Given the description of an element on the screen output the (x, y) to click on. 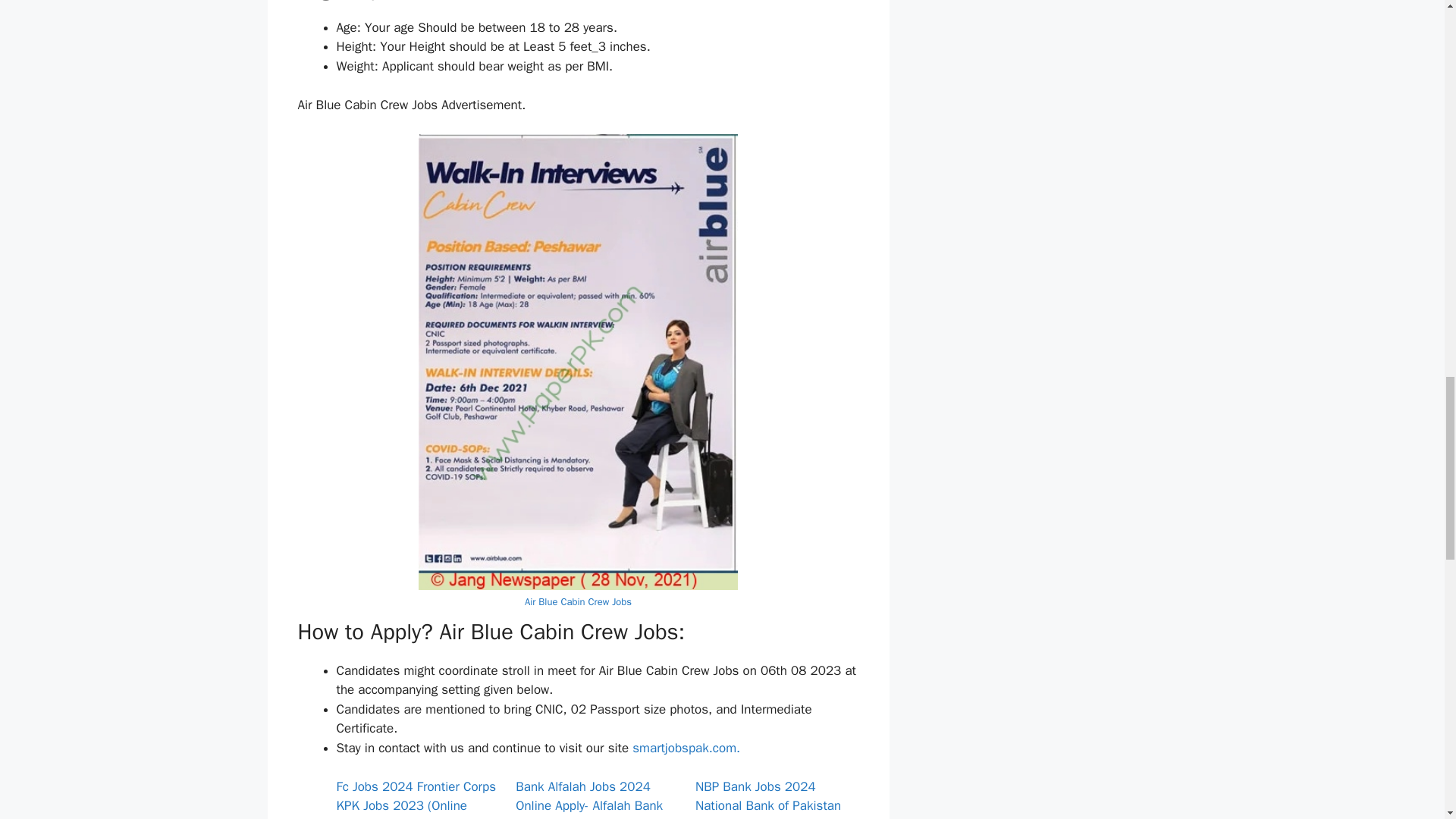
smartjobspak.com. (683, 747)
Air Blue Cabin Crew Jobs (577, 601)
NBP Bank Jobs 2024 National Bank of Pakistan Jobs 2024 (768, 798)
